Given the description of an element on the screen output the (x, y) to click on. 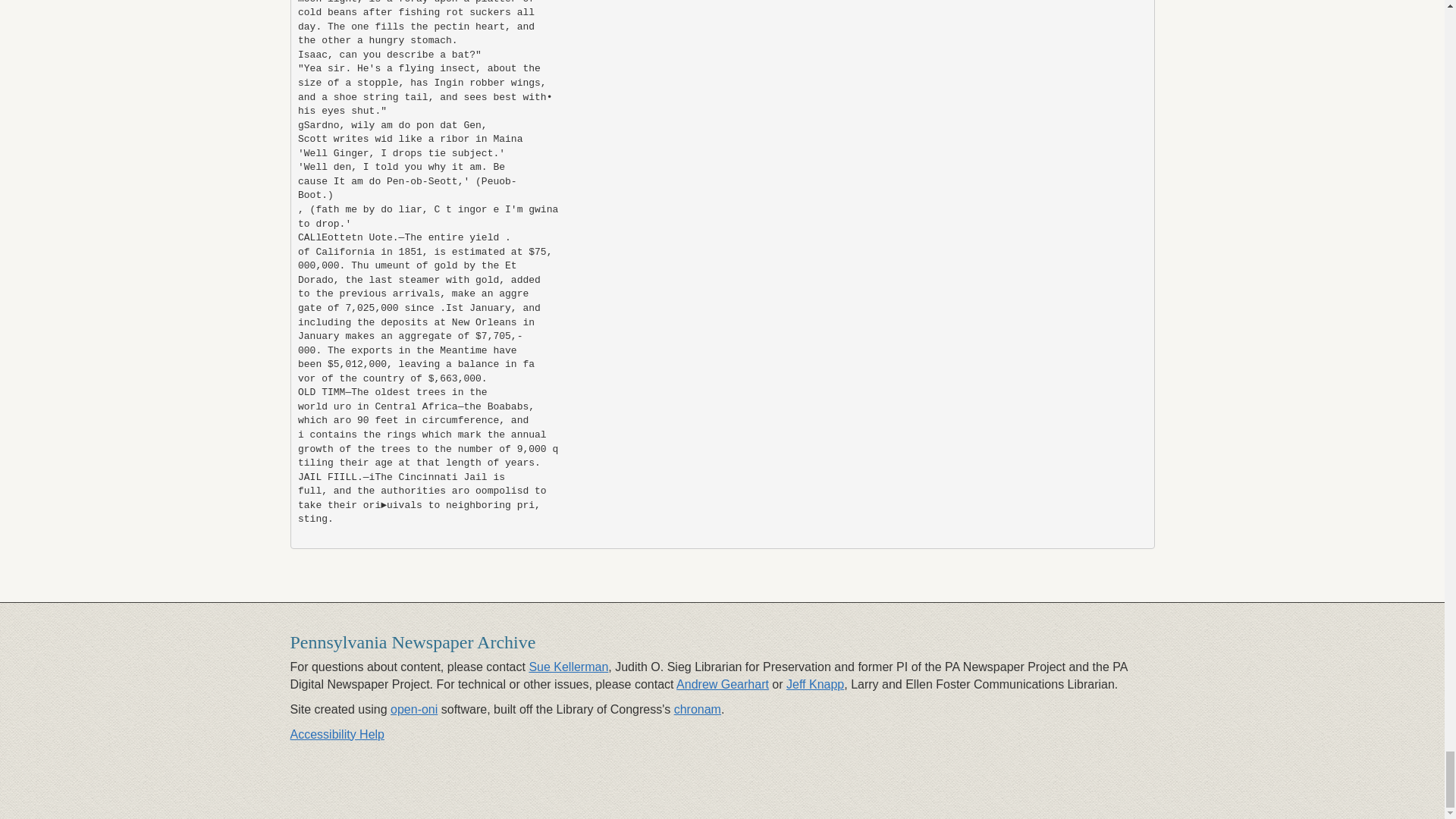
Accessibility Help (336, 734)
Jeff Knapp (815, 684)
Andrew Gearhart (722, 684)
chronam (697, 708)
open-oni (414, 708)
Sue Kellerman (568, 666)
